Given the description of an element on the screen output the (x, y) to click on. 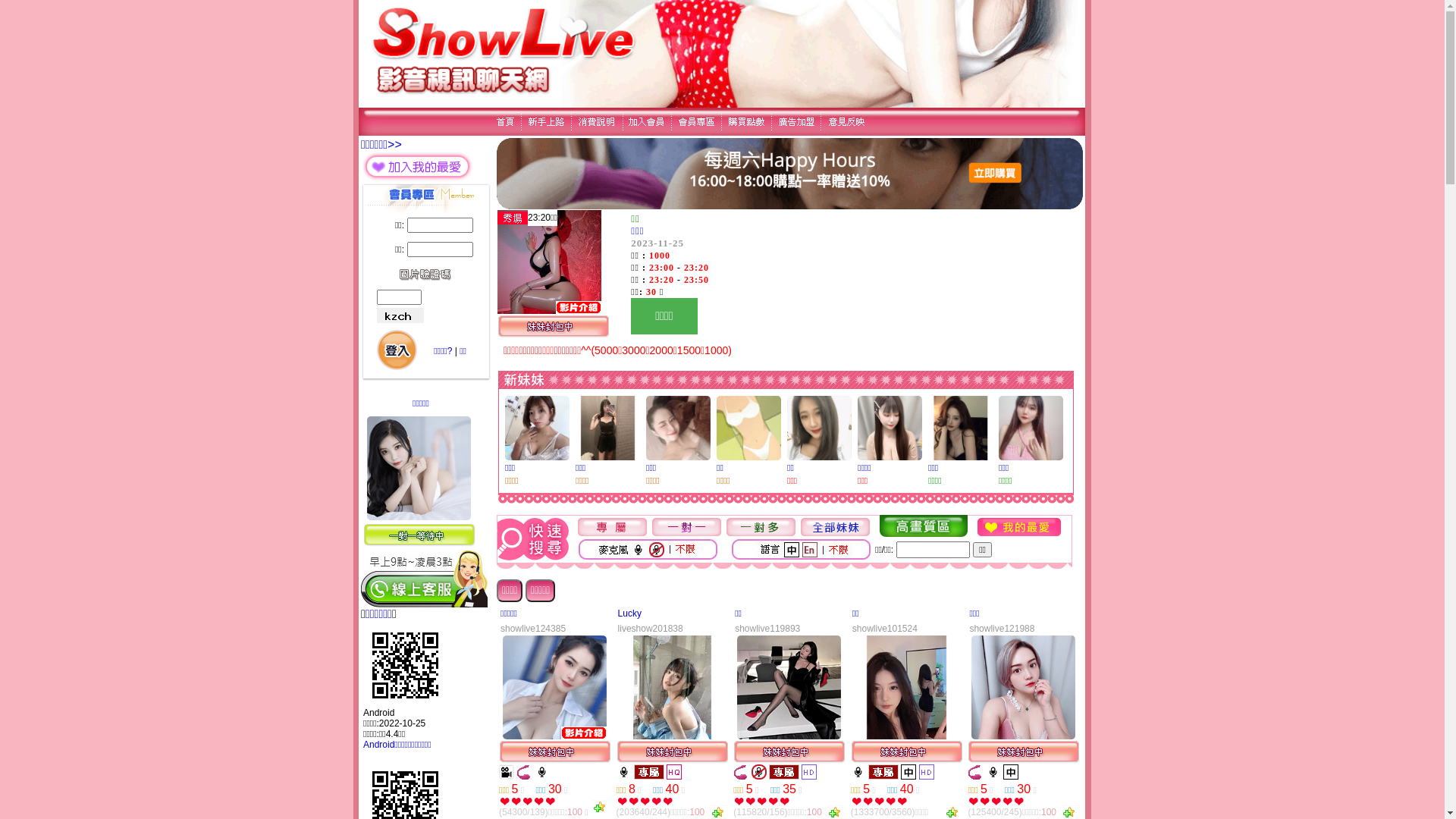
Lucky Element type: text (629, 613)
